Given the description of an element on the screen output the (x, y) to click on. 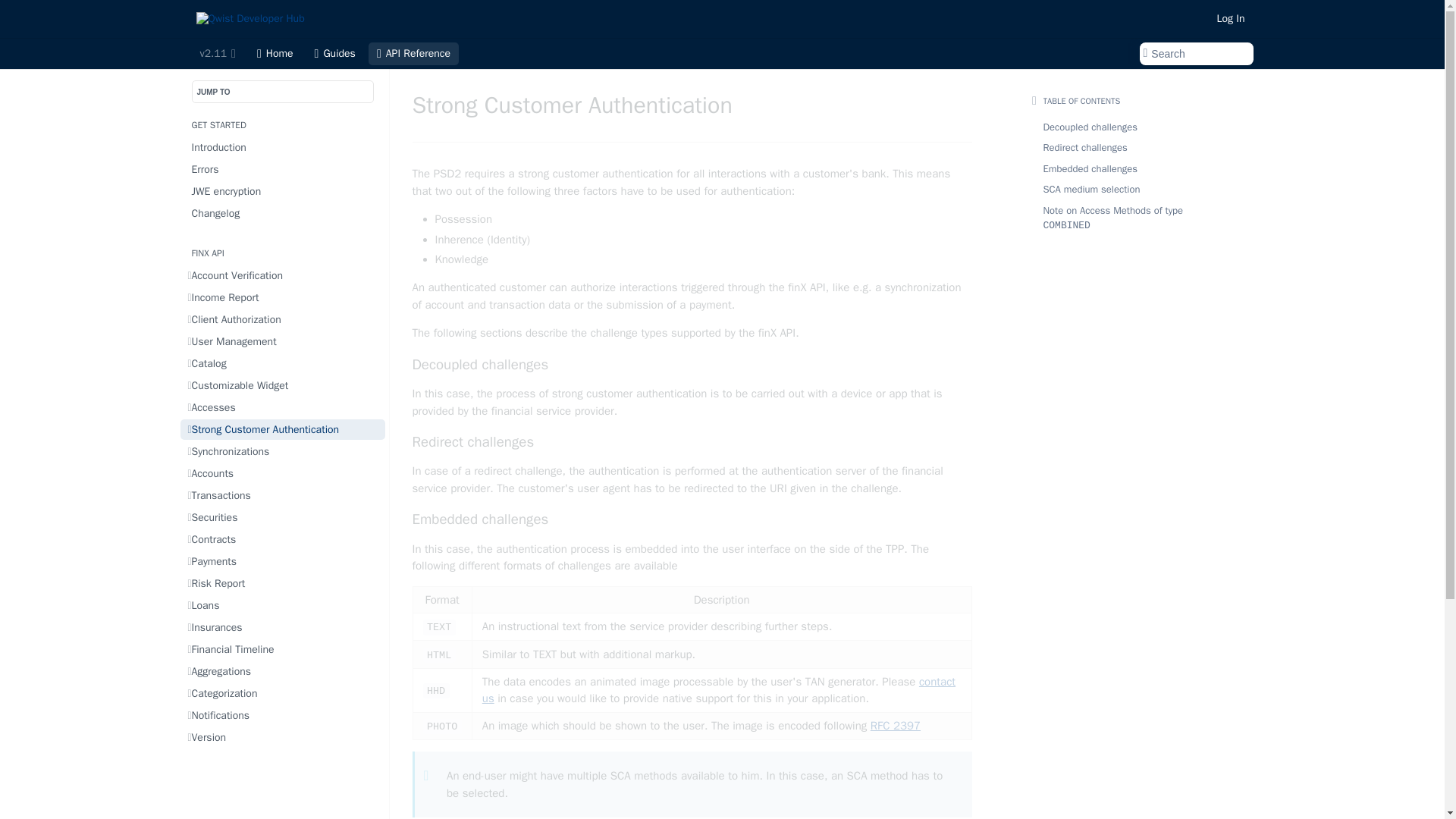
Changelog (282, 213)
Income Report (282, 297)
Home (274, 53)
Client Authorization (282, 319)
Embedded challenges (692, 519)
Errors (282, 168)
v2.11 (216, 53)
Guides (334, 53)
User Management (282, 341)
Log In (1230, 18)
